Given the description of an element on the screen output the (x, y) to click on. 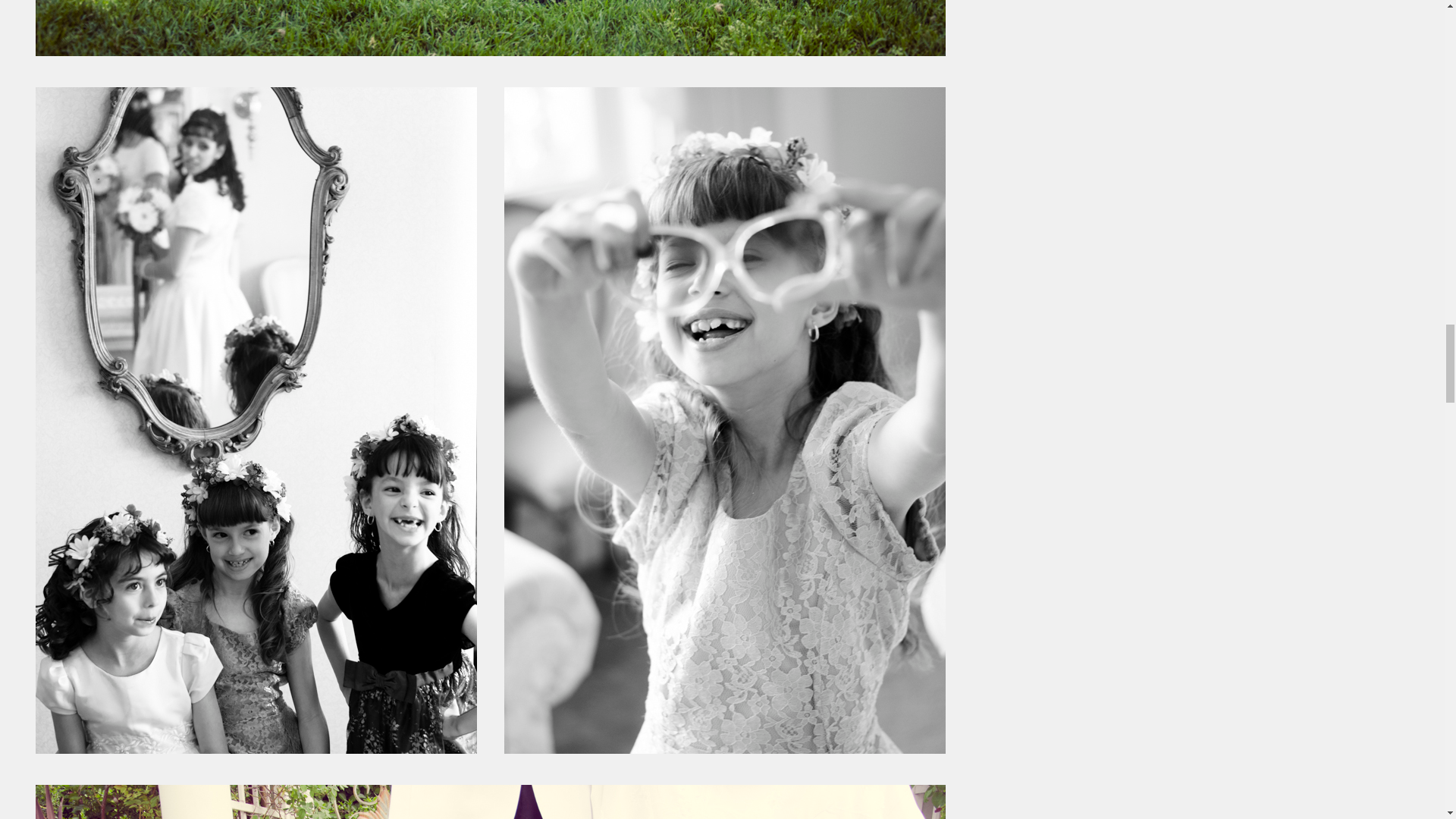
white willow wedding photography provo utah-6434 (489, 28)
white willow wedding photography provo utah-6726 (489, 801)
